Given the description of an element on the screen output the (x, y) to click on. 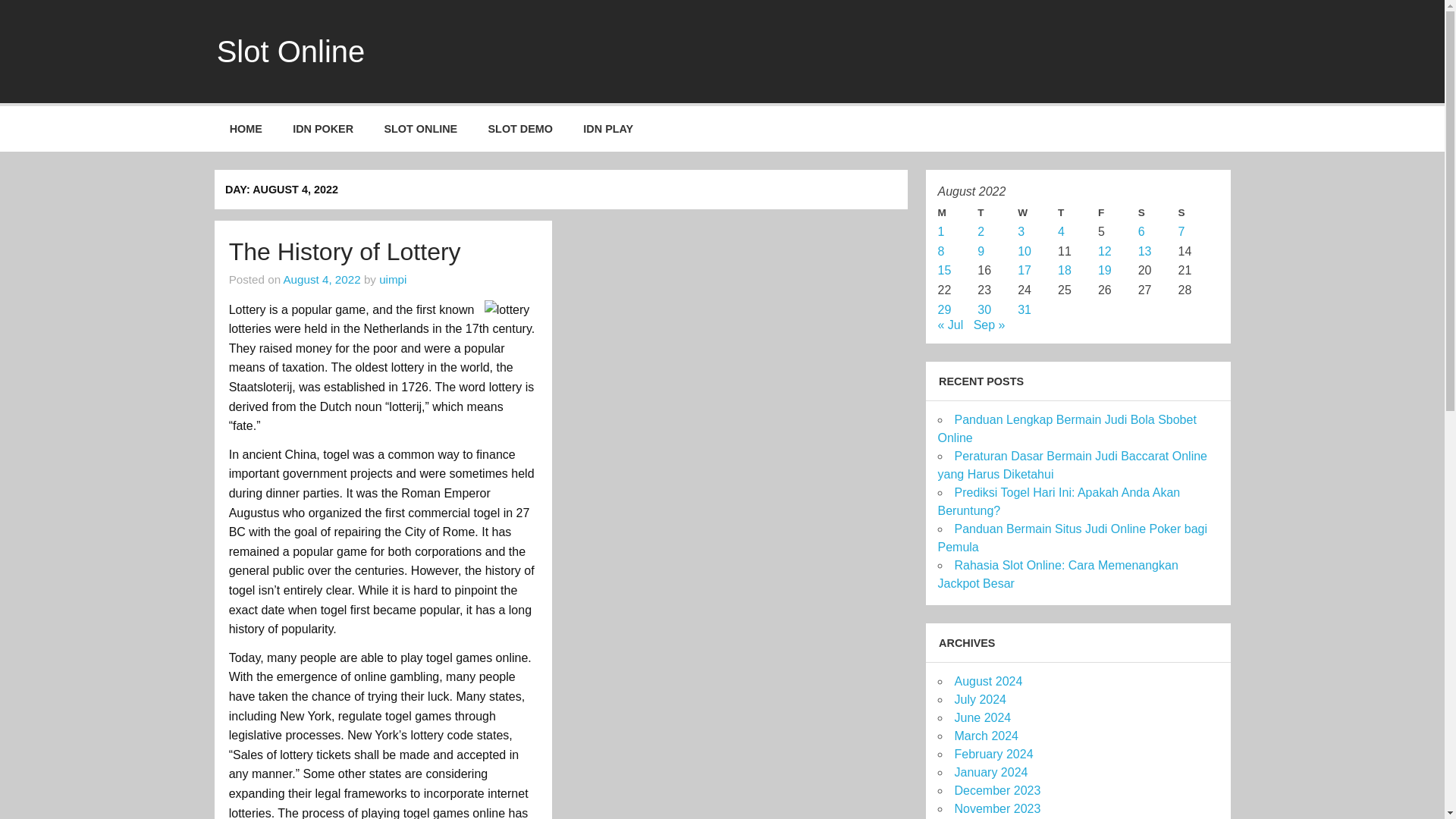
Wednesday (1037, 212)
10 (1023, 250)
HOME (246, 128)
Prediksi Togel Hari Ini: Apakah Anda Akan Beruntung? (1058, 501)
Panduan Bermain Situs Judi Online Poker bagi Pemula (1072, 537)
Tuesday (996, 212)
Sunday (1197, 212)
11:16 pm (320, 278)
The History of Lottery (344, 251)
Thursday (1077, 212)
